Given the description of an element on the screen output the (x, y) to click on. 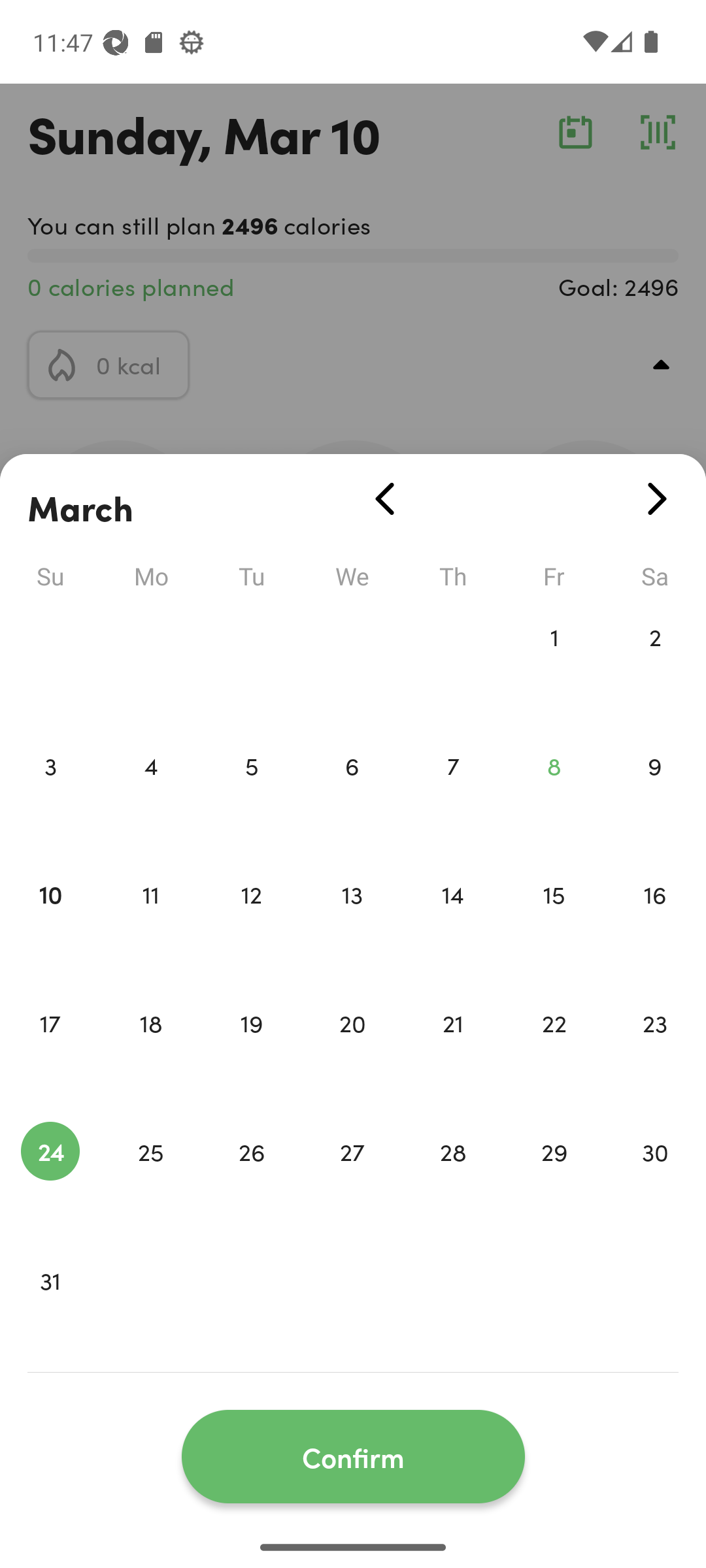
1 (554, 663)
2 (655, 663)
3 (50, 793)
4 (150, 793)
5 (251, 793)
6 (352, 793)
7 (453, 793)
8 (554, 793)
9 (655, 793)
10 (50, 921)
11 (150, 921)
12 (251, 921)
13 (352, 921)
14 (453, 921)
15 (554, 921)
16 (655, 921)
17 (50, 1050)
18 (150, 1050)
19 (251, 1050)
20 (352, 1050)
21 (453, 1050)
22 (554, 1050)
23 (655, 1050)
24 (50, 1178)
25 (150, 1178)
26 (251, 1178)
27 (352, 1178)
28 (453, 1178)
29 (554, 1178)
30 (655, 1178)
31 (50, 1307)
Confirm (353, 1456)
